Given the description of an element on the screen output the (x, y) to click on. 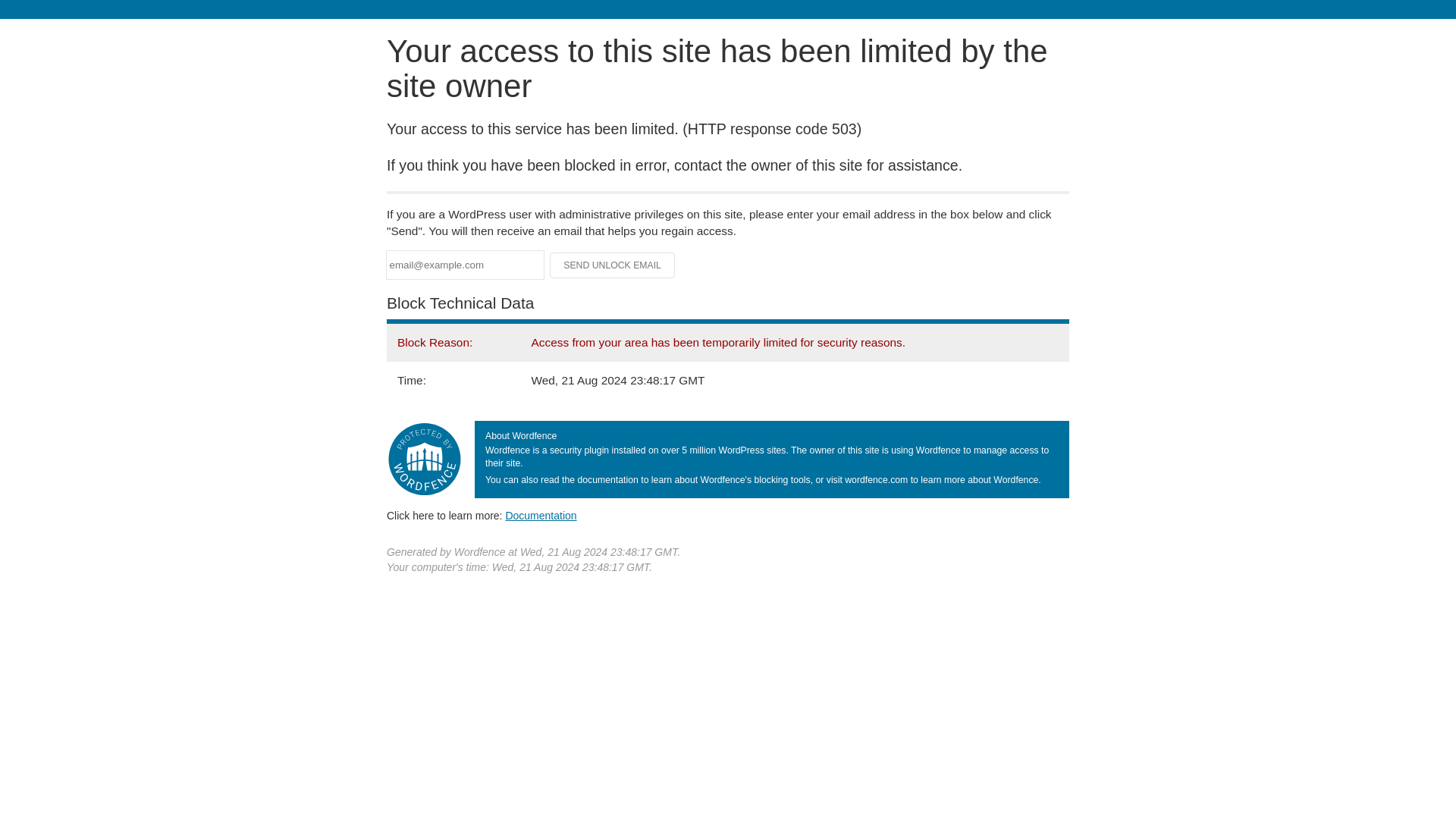
Send Unlock Email (612, 265)
Documentation (540, 515)
Send Unlock Email (612, 265)
